Given the description of an element on the screen output the (x, y) to click on. 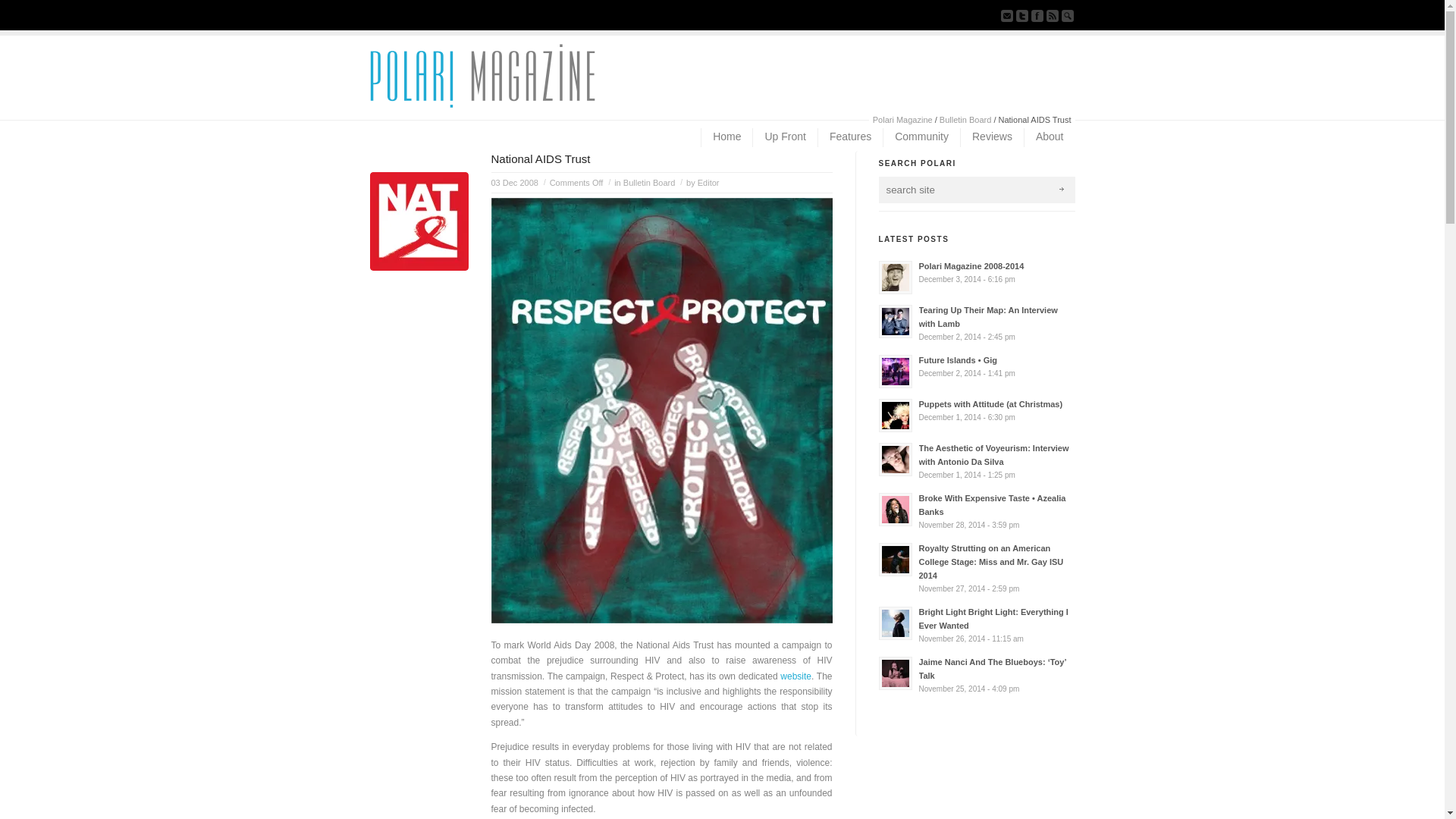
Subscribe to our RSS Feed (1052, 15)
search site (960, 189)
NAT (418, 221)
Home (726, 137)
About (1049, 137)
Future-Islands (894, 370)
Community (920, 137)
Lamb-Band (894, 320)
Reviews (991, 137)
Permanent Link: National AIDS Trust (541, 158)
Up Front (784, 137)
Search Site (1067, 15)
Posts by Editor (708, 182)
Follow us on Twitter (1021, 15)
